Given the description of an element on the screen output the (x, y) to click on. 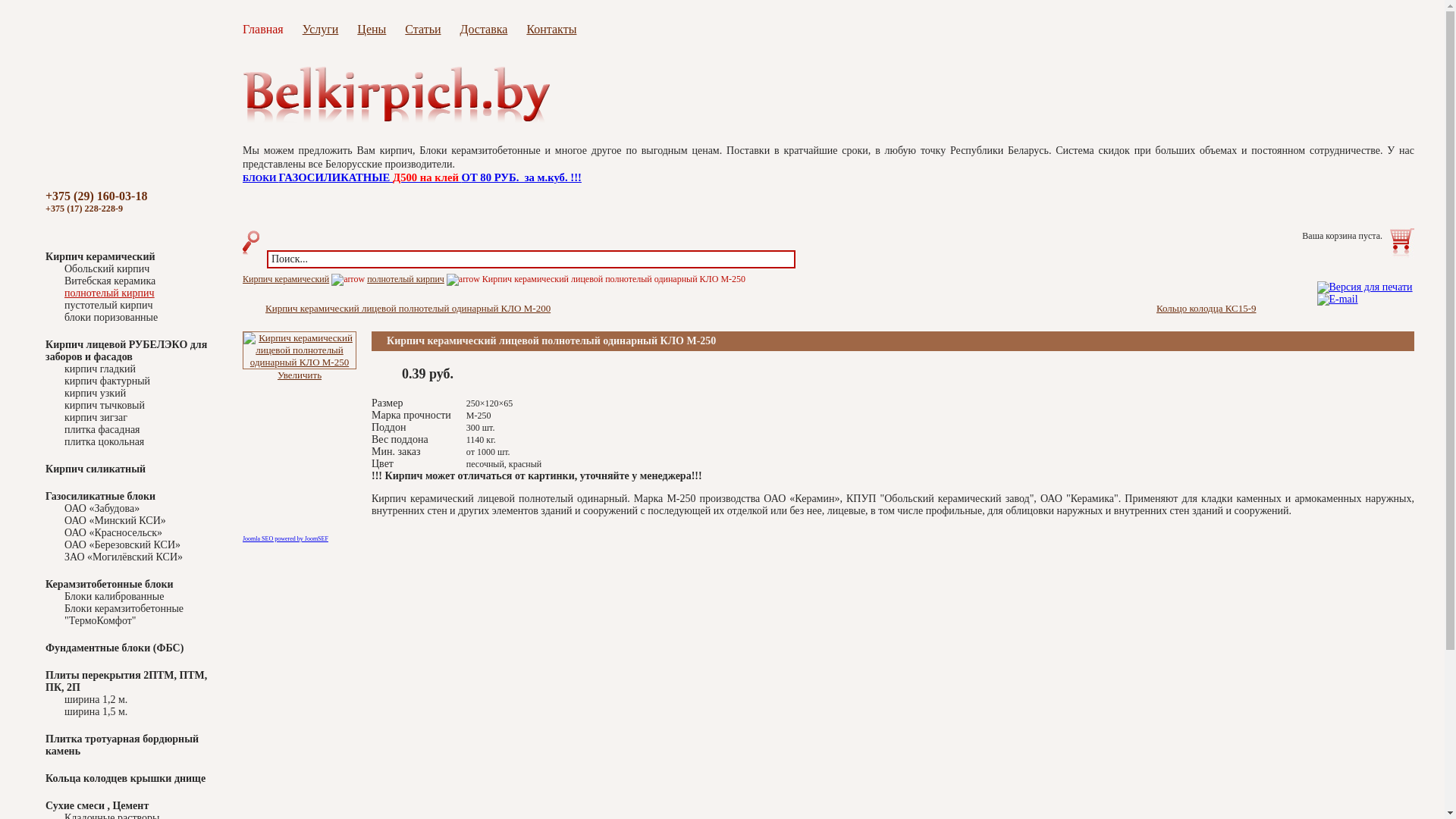
E-mail Element type: hover (1336, 295)
Joomla SEO powered by JoomSEF Element type: text (285, 538)
